Given the description of an element on the screen output the (x, y) to click on. 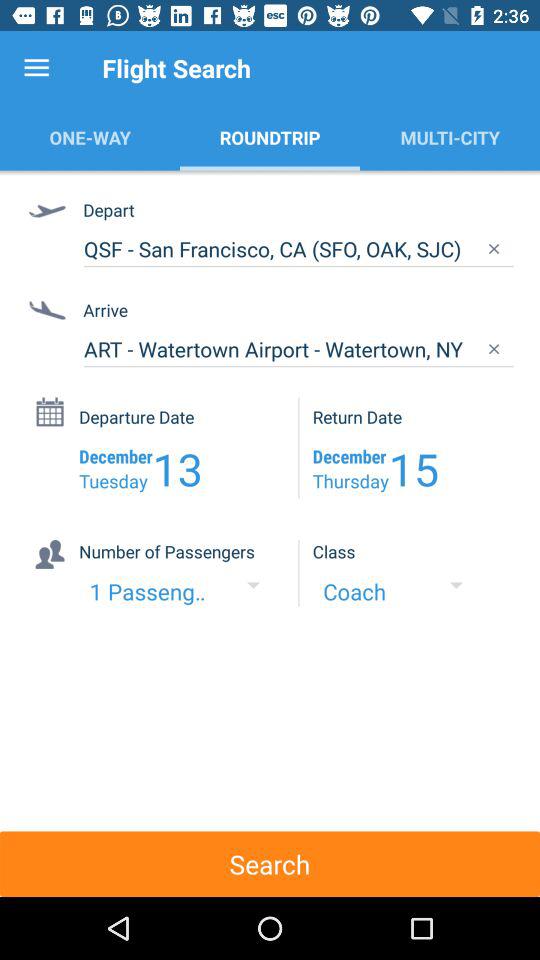
launch item above the one-way item (36, 68)
